Given the description of an element on the screen output the (x, y) to click on. 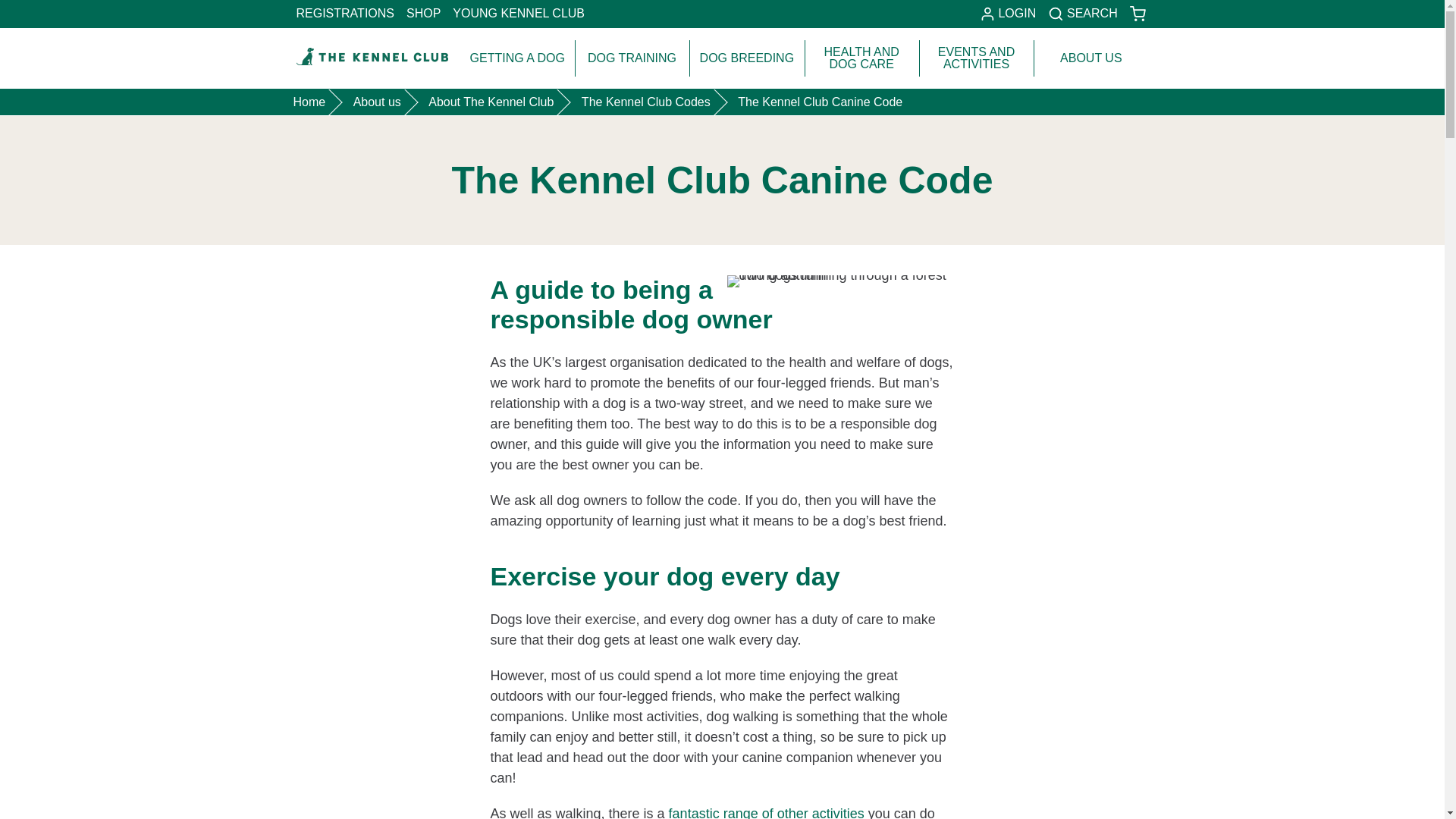
DOG TRAINING (631, 57)
GETTING A DOG (517, 57)
LOGIN (1008, 13)
Events and Activities (766, 812)
REGISTRATIONS (1082, 13)
DOG BREEDING (344, 13)
YOUNG KENNEL CLUB (745, 57)
SHOP (518, 13)
